Given the description of an element on the screen output the (x, y) to click on. 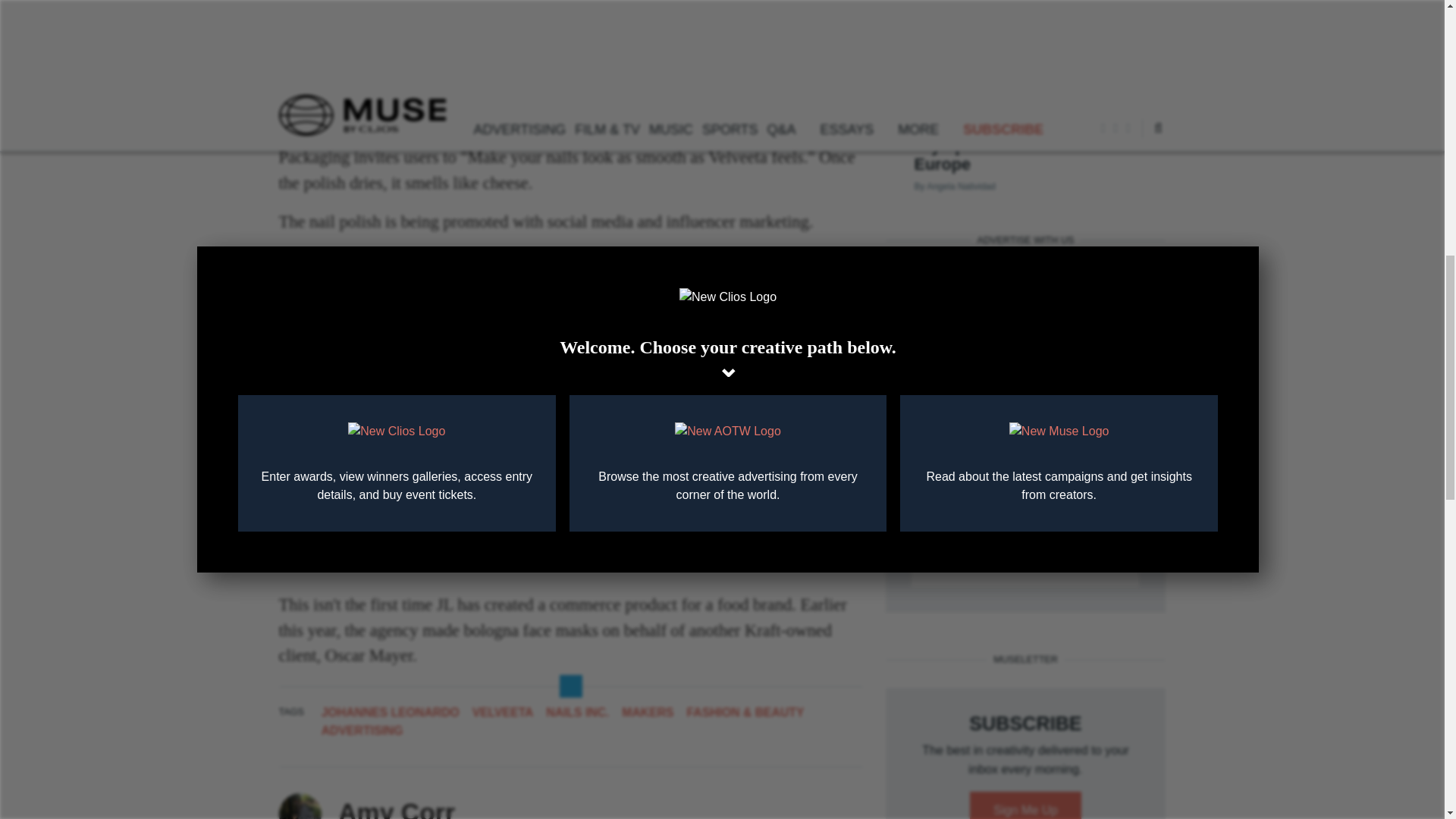
Back to Top (1397, 132)
